Given the description of an element on the screen output the (x, y) to click on. 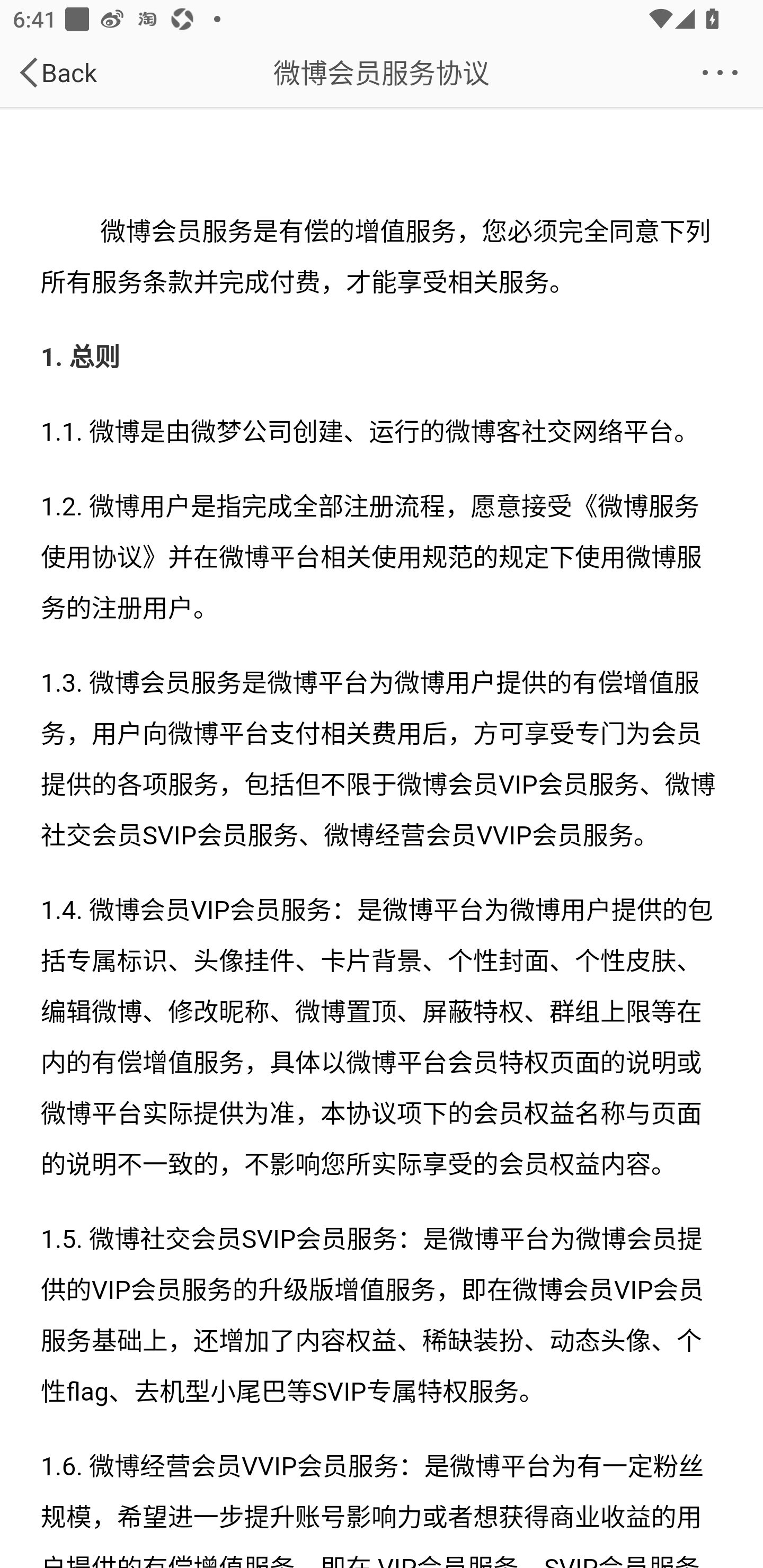
Back (56, 71)
